Given the description of an element on the screen output the (x, y) to click on. 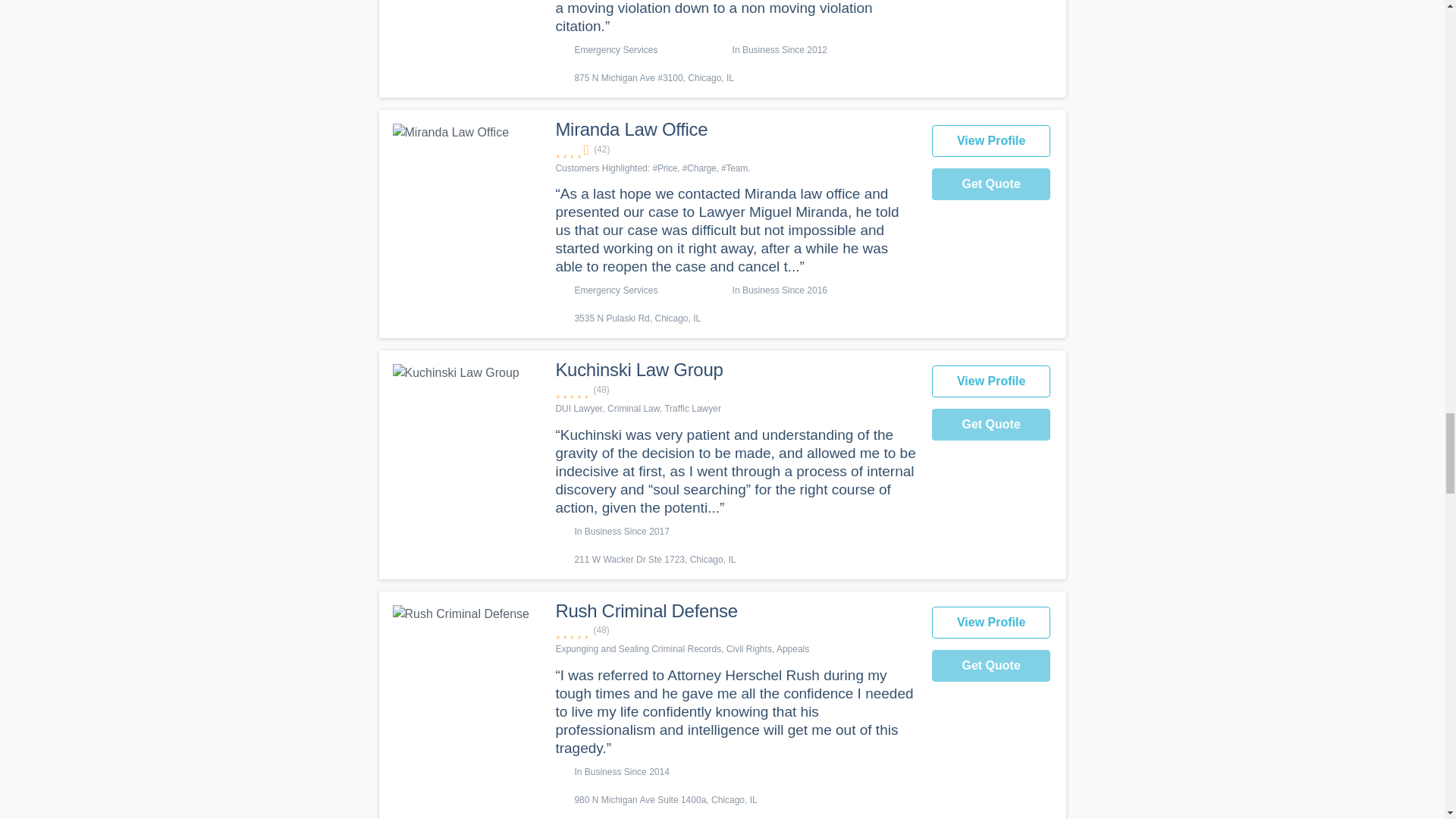
5.0 (734, 630)
4.6 (734, 149)
5.0 (734, 390)
